Given the description of an element on the screen output the (x, y) to click on. 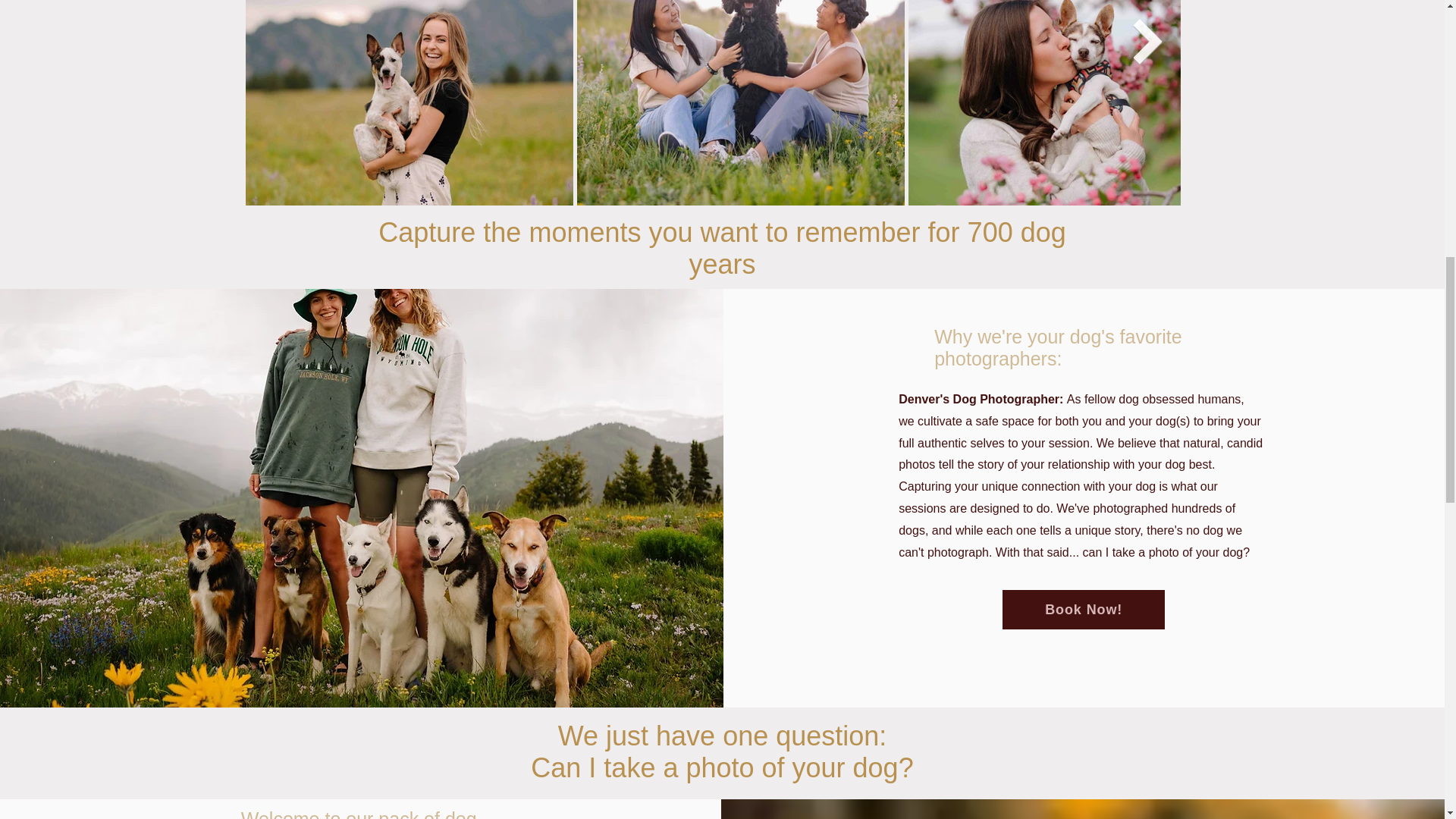
Book Now! (1083, 609)
